Given the description of an element on the screen output the (x, y) to click on. 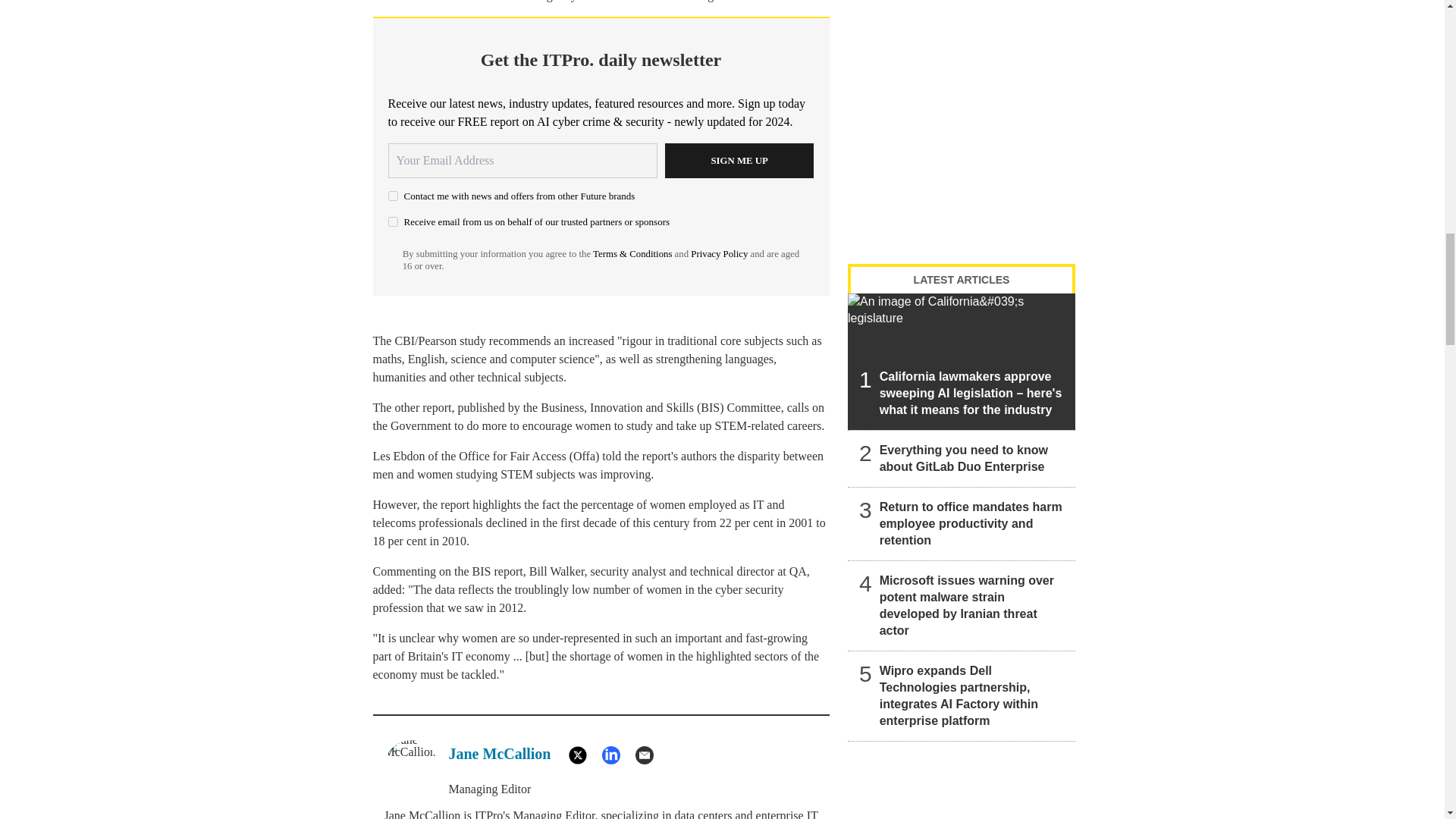
Sign me up (739, 160)
on (392, 221)
on (392, 195)
